Given the description of an element on the screen output the (x, y) to click on. 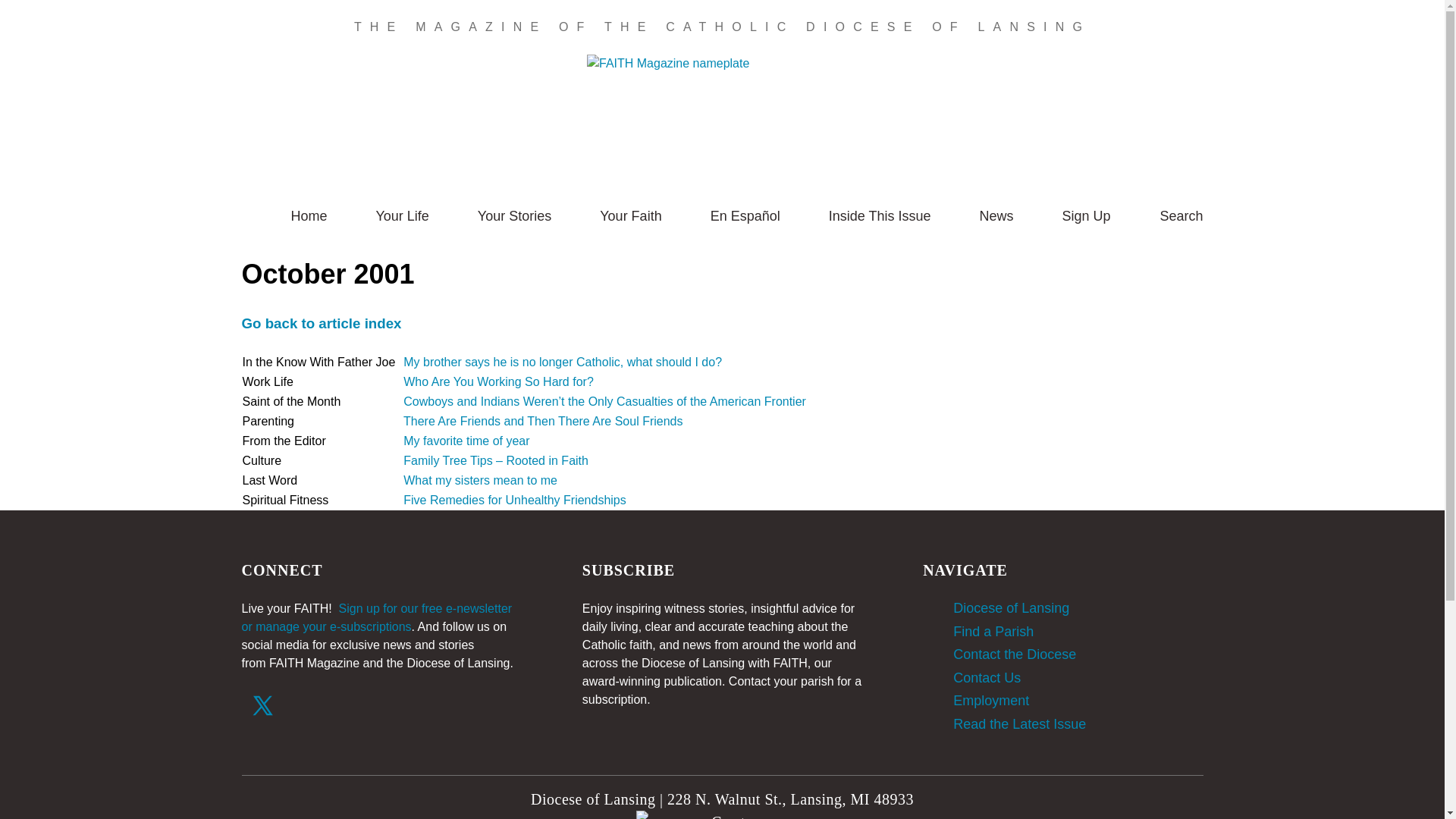
Email signup (376, 617)
News (995, 220)
Inside This Issue (880, 220)
Sign Up (1085, 220)
Your Faith (630, 220)
Your Stories (513, 220)
Your Life (401, 220)
Home (308, 220)
